Given the description of an element on the screen output the (x, y) to click on. 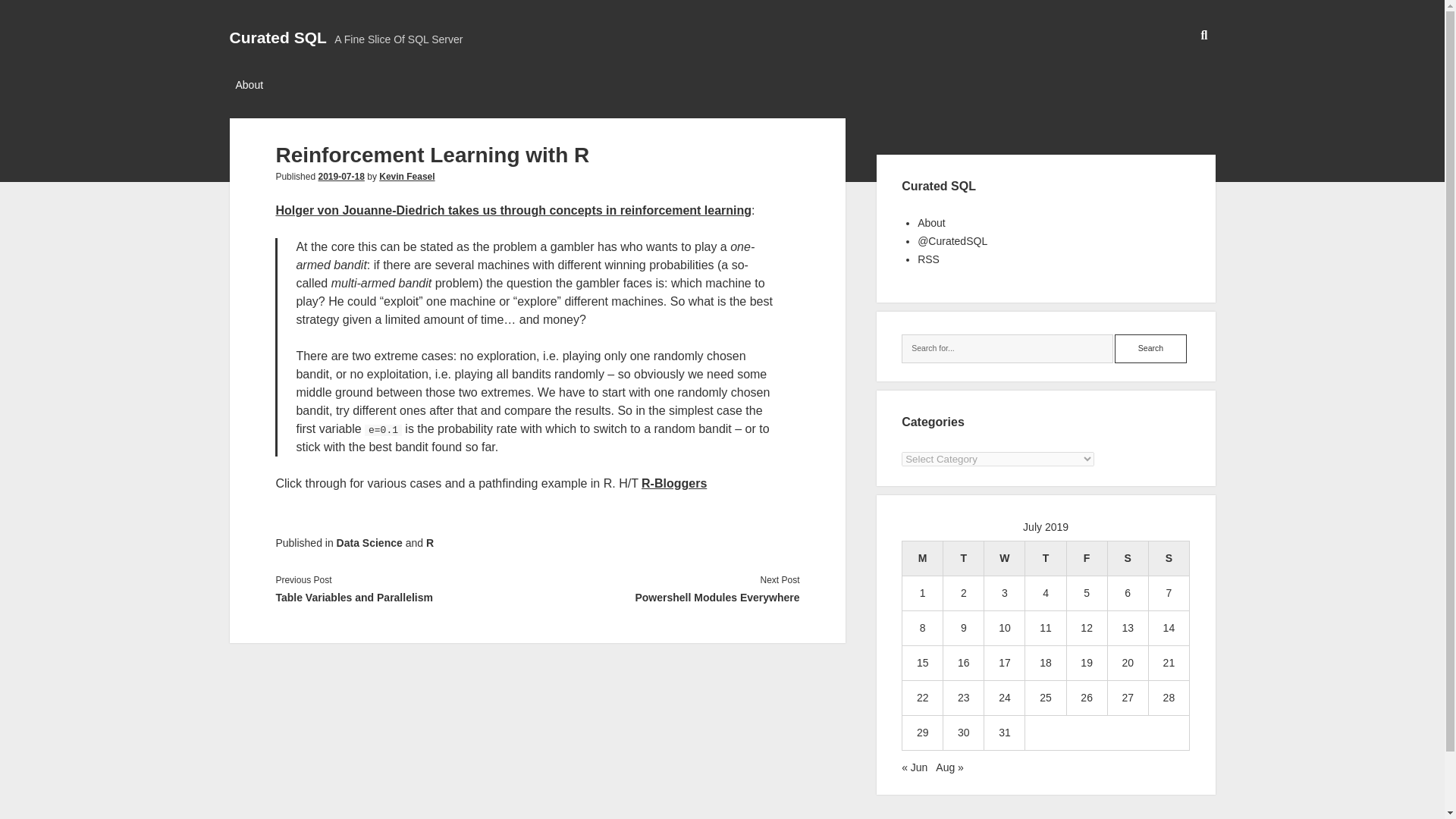
25 (1045, 697)
Sunday (1168, 557)
About (930, 223)
9 (963, 627)
Search (1150, 348)
Thursday (1045, 557)
8 (923, 627)
Search (1150, 348)
Powershell Modules Everywhere (668, 597)
R (429, 542)
Curated SQL (277, 36)
Data Science (369, 542)
Saturday (1127, 557)
19 (1086, 662)
